Given the description of an element on the screen output the (x, y) to click on. 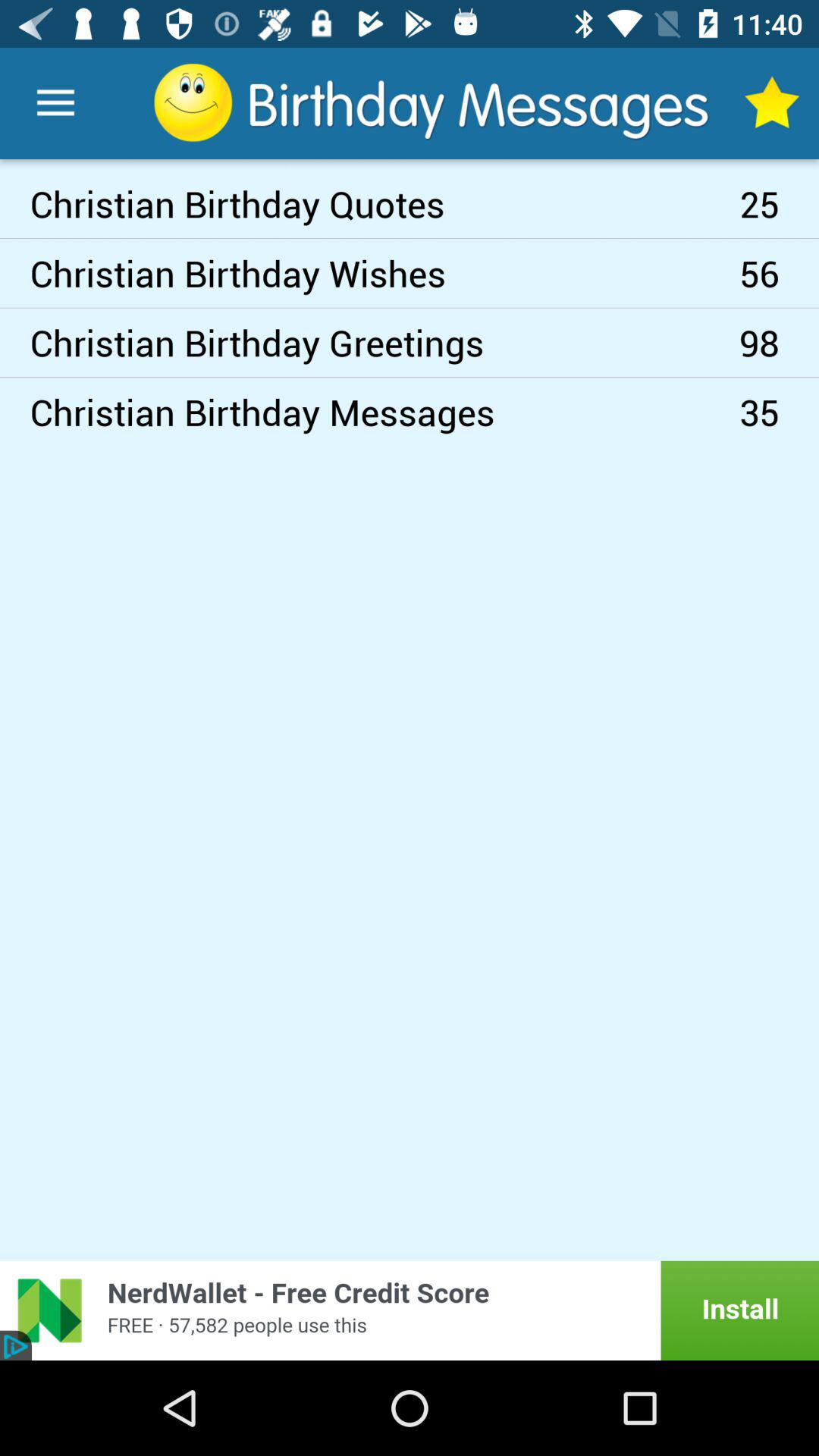
choose item below 25 item (779, 272)
